Given the description of an element on the screen output the (x, y) to click on. 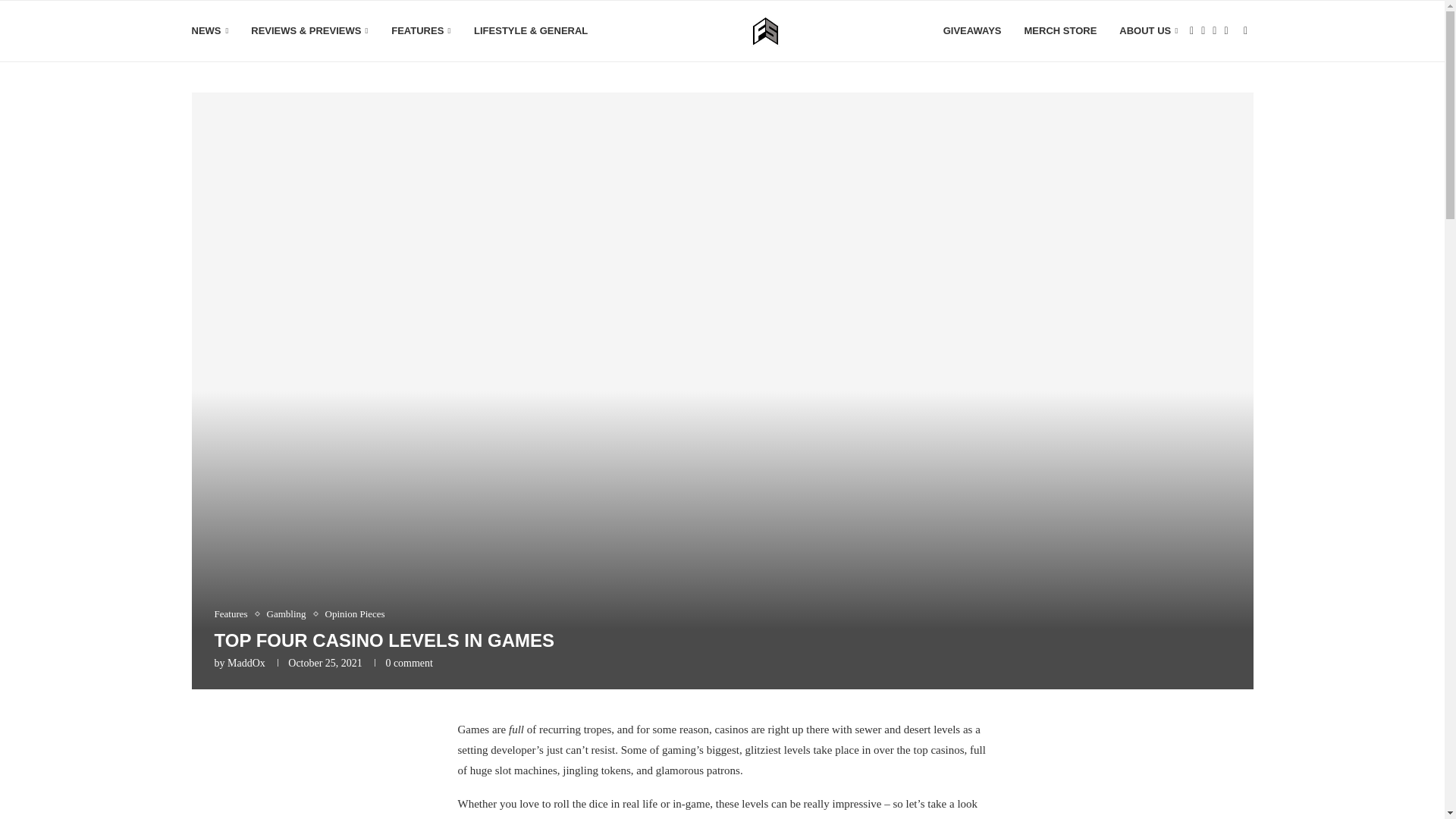
MERCH STORE (1061, 30)
Features (234, 613)
GIVEAWAYS (972, 30)
ABOUT US (1148, 30)
Opinion Pieces (354, 613)
MaddOx (245, 663)
Gambling (290, 613)
FEATURES (421, 30)
